Given the description of an element on the screen output the (x, y) to click on. 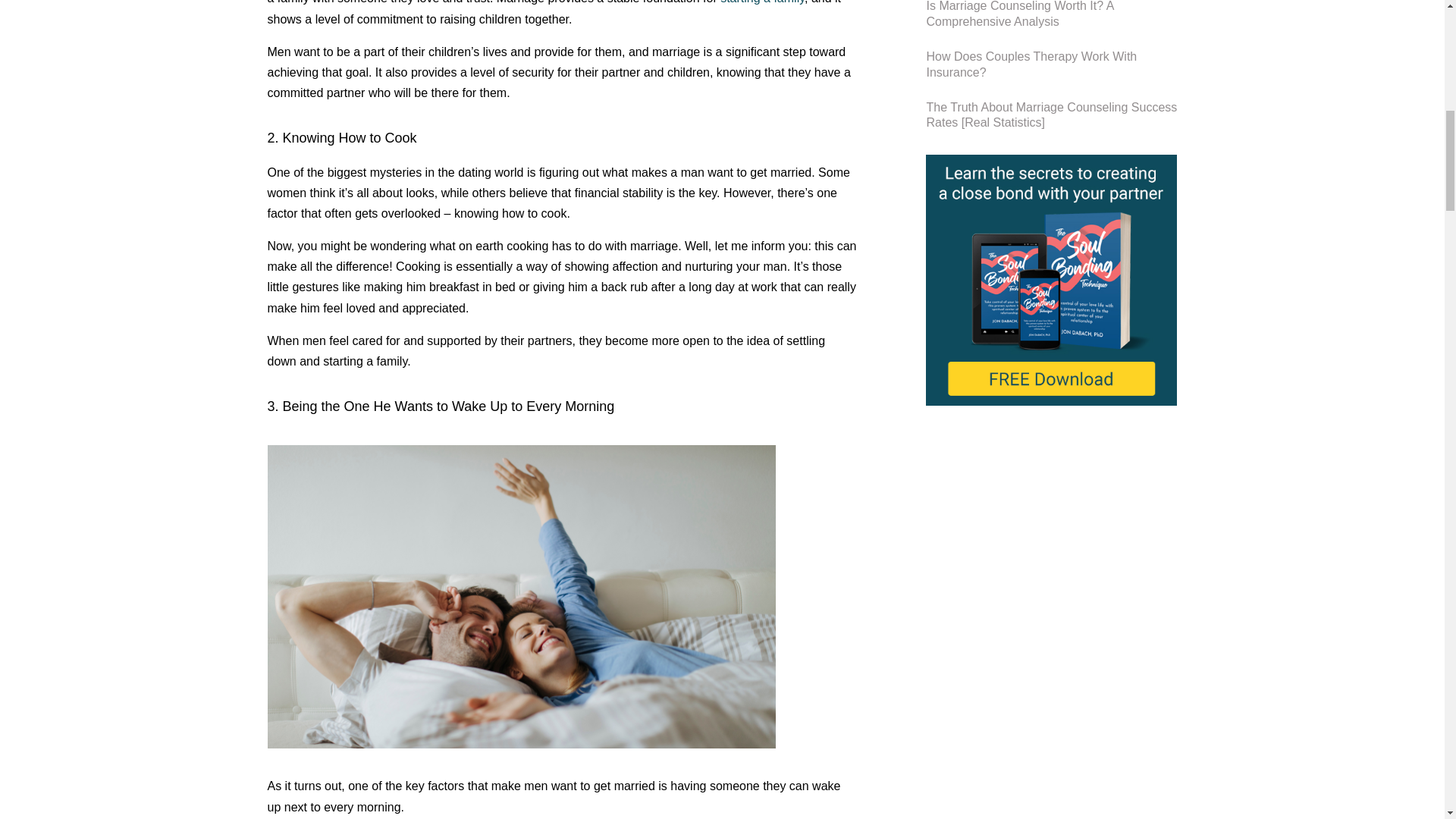
starting a family (762, 2)
free book (1051, 279)
